Given the description of an element on the screen output the (x, y) to click on. 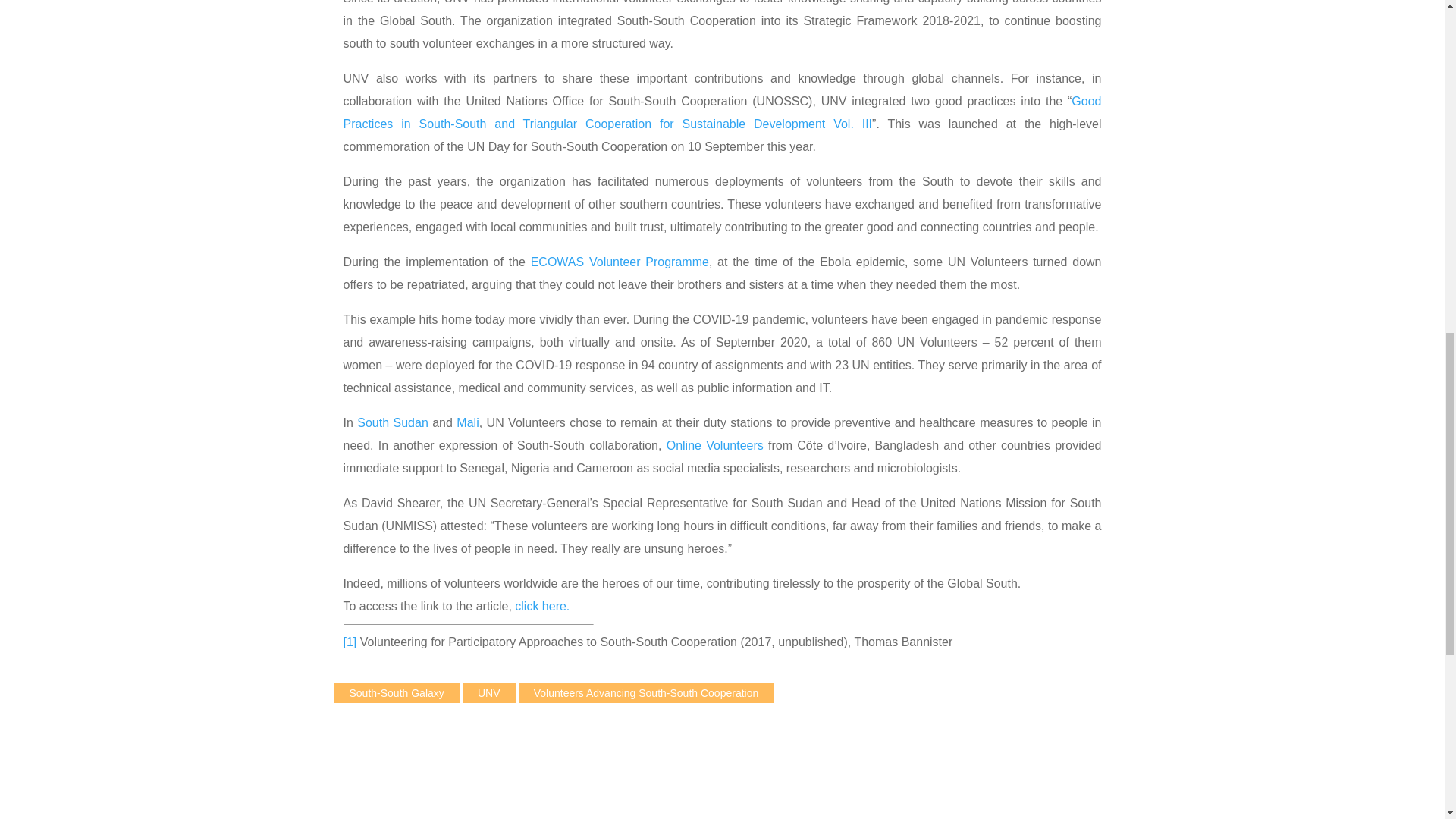
South Sudan (392, 422)
Online Volunteers (717, 445)
Mali (468, 422)
South-South Galaxy (395, 692)
UNV (489, 692)
click here. (542, 605)
Volunteers Advancing South-South Cooperation (646, 692)
ECOWAS Volunteer Programme (620, 261)
